Given the description of an element on the screen output the (x, y) to click on. 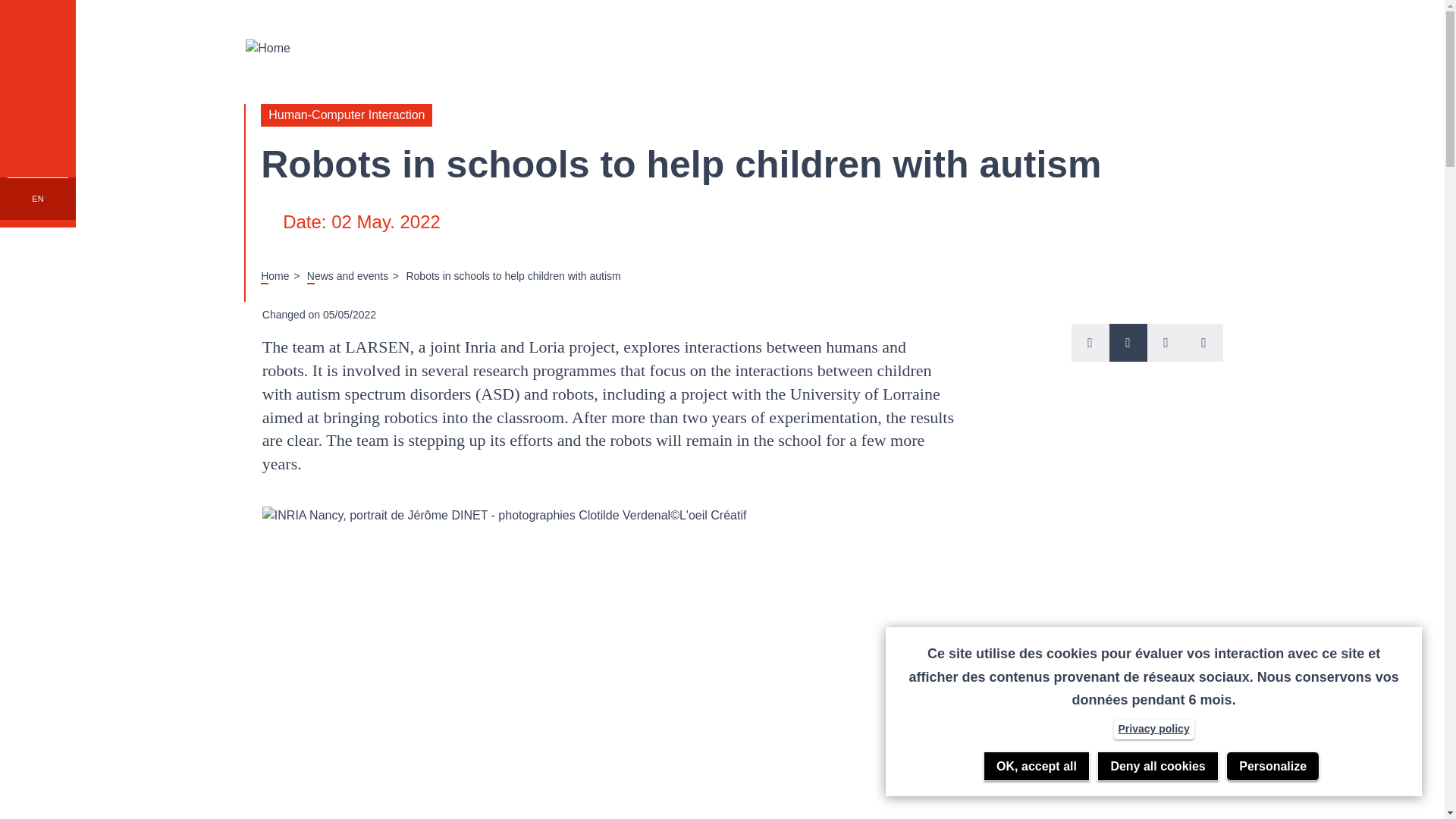
News and events (347, 276)
Home (274, 276)
RECHERCHER (37, 189)
Share on LinkedIn (1204, 342)
EN (37, 198)
Share on Twitter (1089, 342)
Share on Facebook (1166, 342)
print (1127, 342)
Home (745, 47)
OUR CHALLENGES (37, 113)
MENU (37, 38)
